Given the description of an element on the screen output the (x, y) to click on. 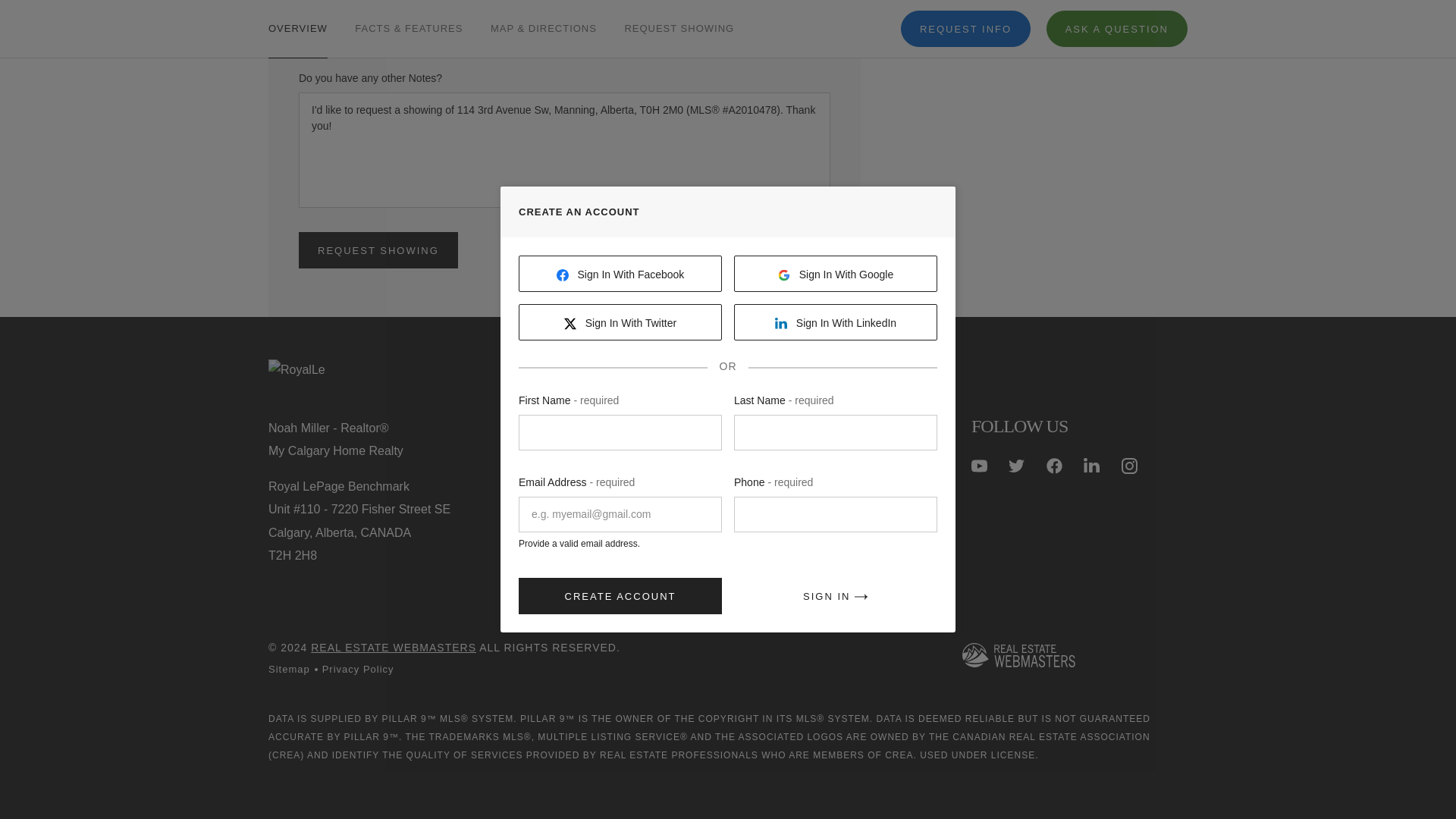
YOUTUBE (979, 465)
FACEBOOK (1054, 465)
TWITTER (1017, 465)
LINKEDIN (1091, 465)
